Given the description of an element on the screen output the (x, y) to click on. 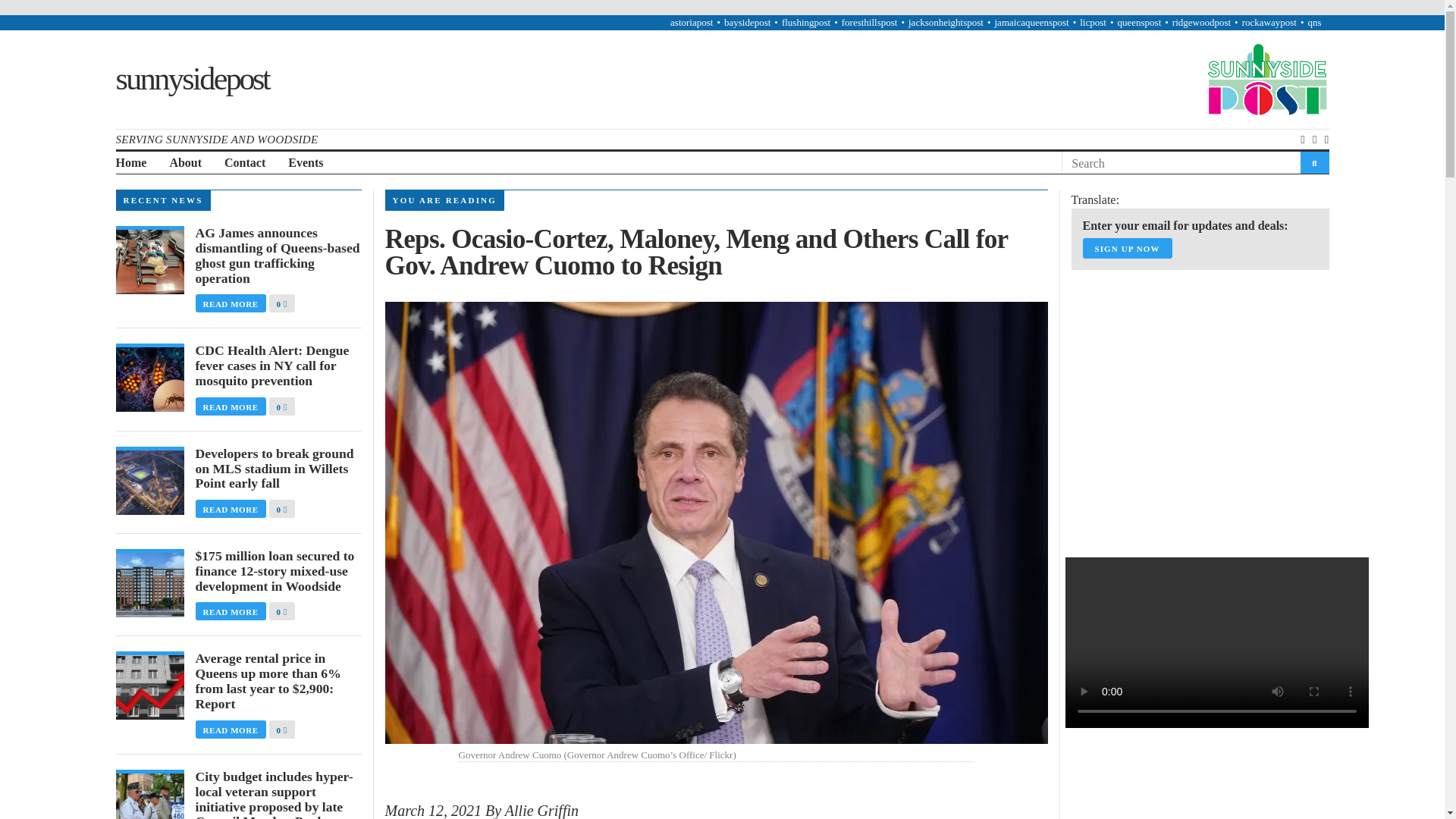
astoriapost (691, 21)
jacksonheightspost (946, 21)
rockawaypost (1269, 21)
jamaicaqueenspost (1031, 21)
sunnysidepost (191, 78)
Contact (244, 163)
Home (131, 163)
baysidepost (746, 21)
licpost (1093, 21)
Events (305, 163)
flushingpost (805, 21)
queenspost (1138, 21)
About (185, 163)
qns (1313, 21)
foresthillspost (869, 21)
